Given the description of an element on the screen output the (x, y) to click on. 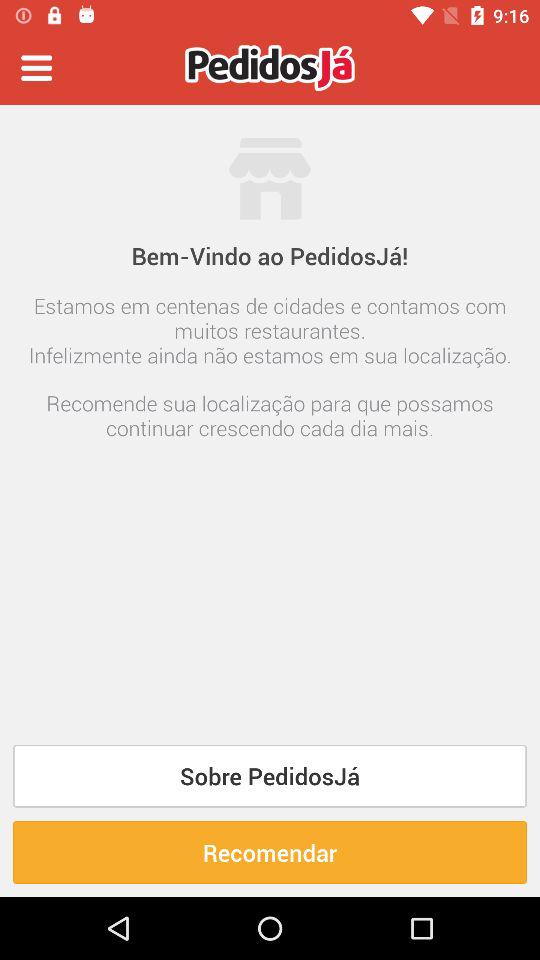
open icon above recomendar icon (269, 775)
